Given the description of an element on the screen output the (x, y) to click on. 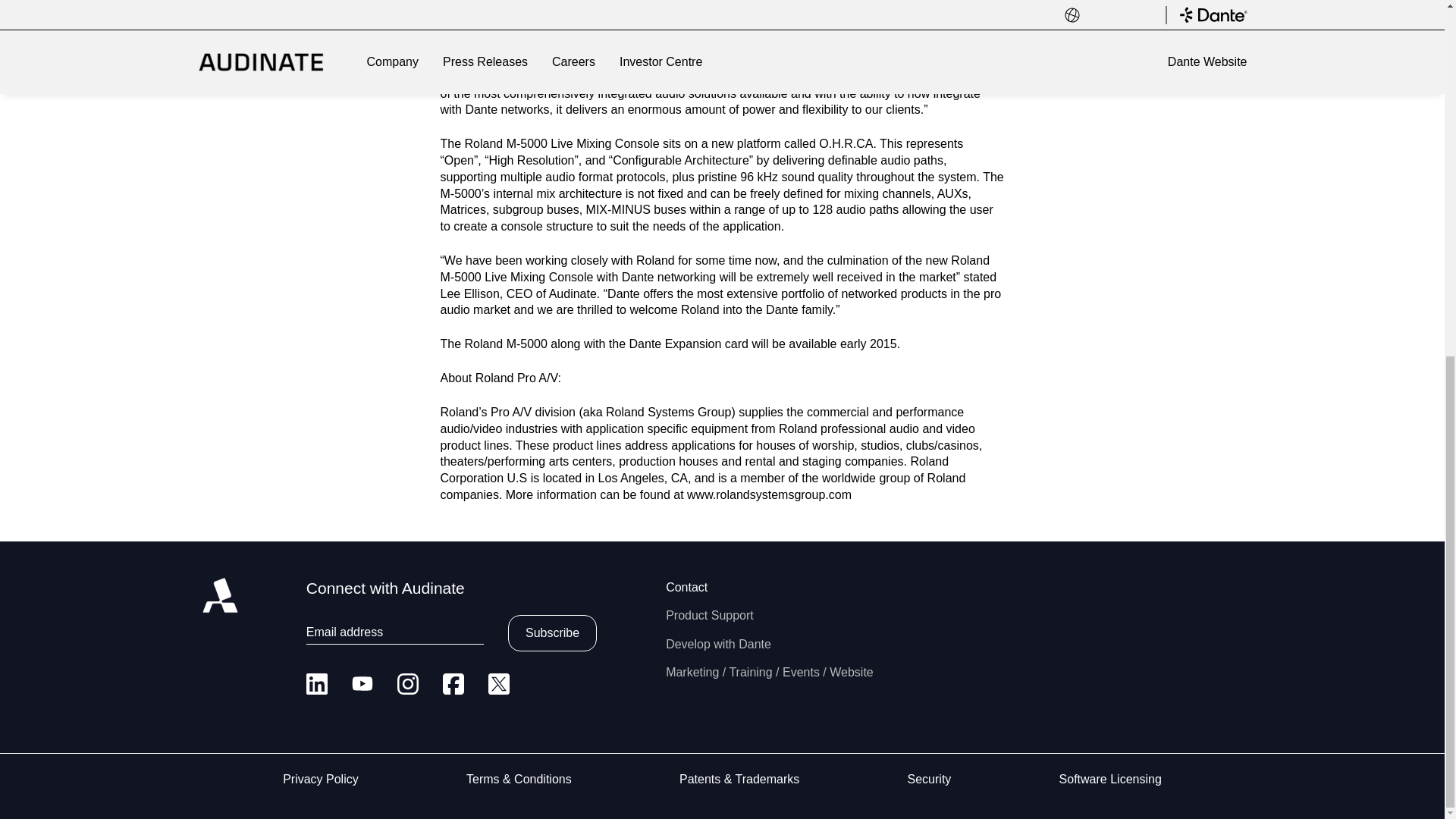
Privacy Policy (320, 779)
Subscribe (552, 633)
Product Support (709, 615)
Contact (686, 586)
Subscribe (552, 633)
Software Licensing (1110, 779)
Develop with Dante (718, 644)
Security (929, 779)
